Given the description of an element on the screen output the (x, y) to click on. 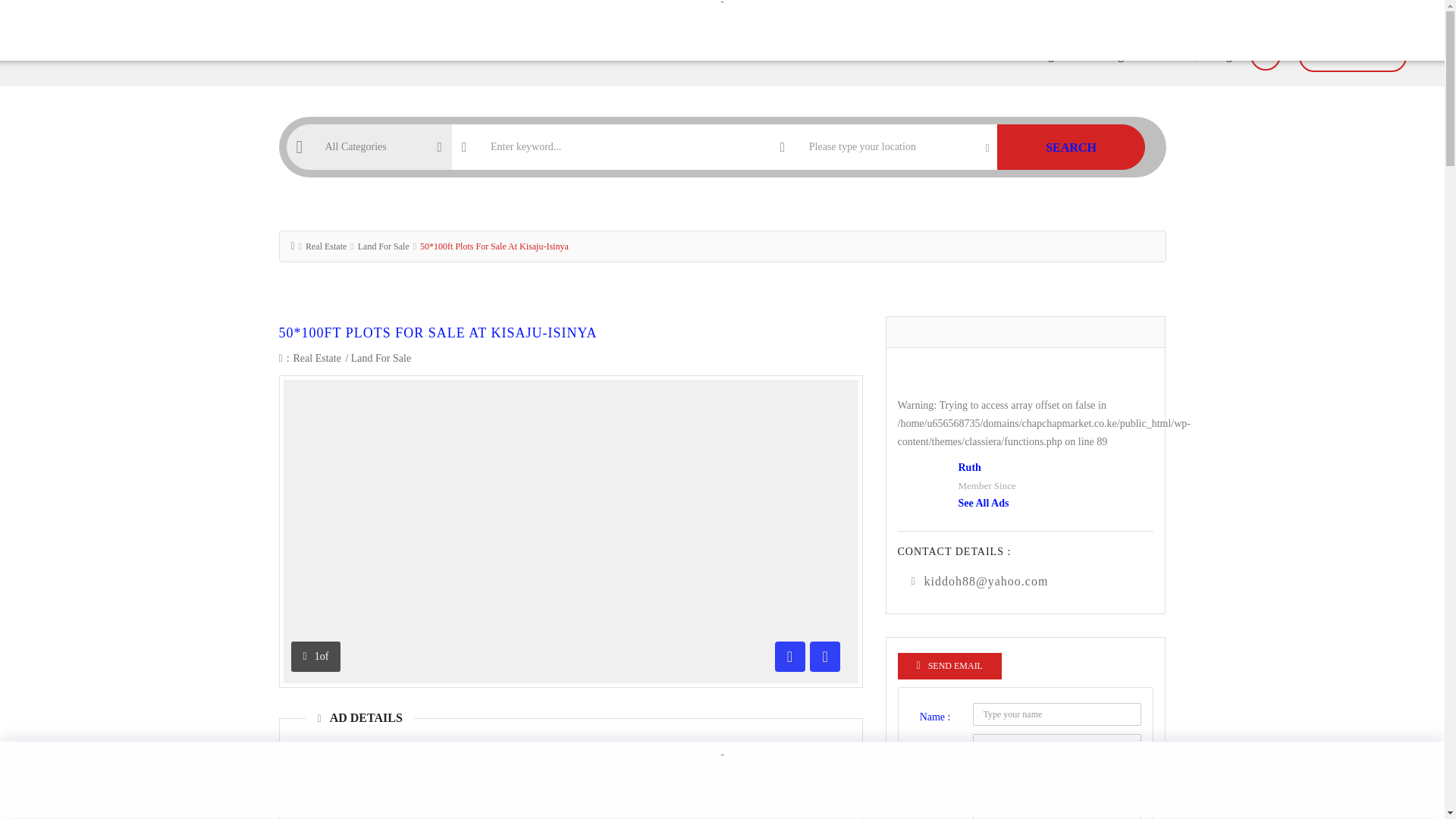
Home (839, 56)
About Us (901, 56)
About us (901, 56)
Blog (1112, 56)
Blog (1112, 56)
All Categories (1042, 56)
Real Estate (317, 357)
Contact (1165, 56)
SUBMIT AD (1352, 56)
All Ads (965, 56)
